Given the description of an element on the screen output the (x, y) to click on. 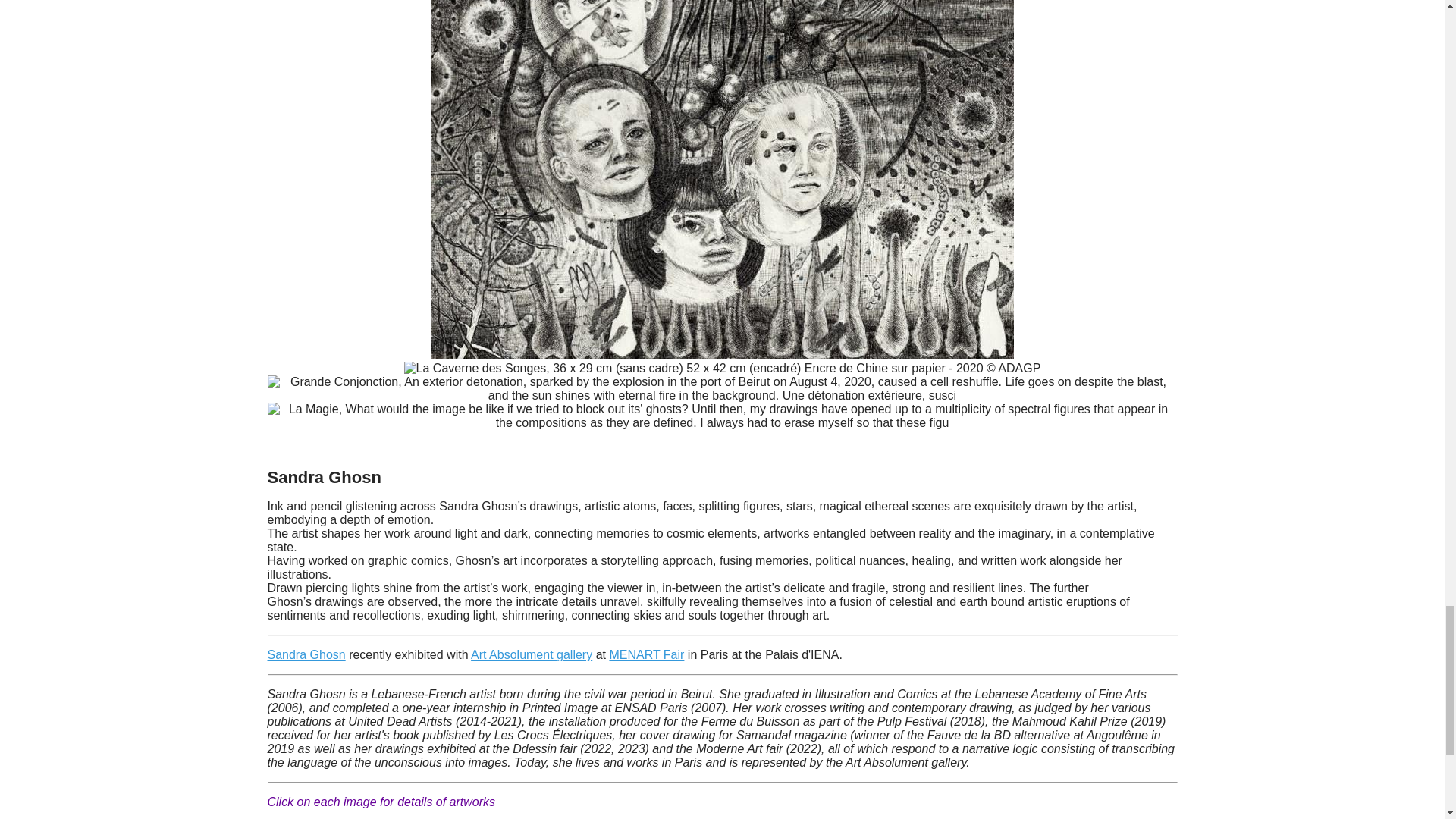
Sandra Ghosn (305, 654)
Art Absolument gallery (531, 654)
MENART Fair (646, 654)
